Given the description of an element on the screen output the (x, y) to click on. 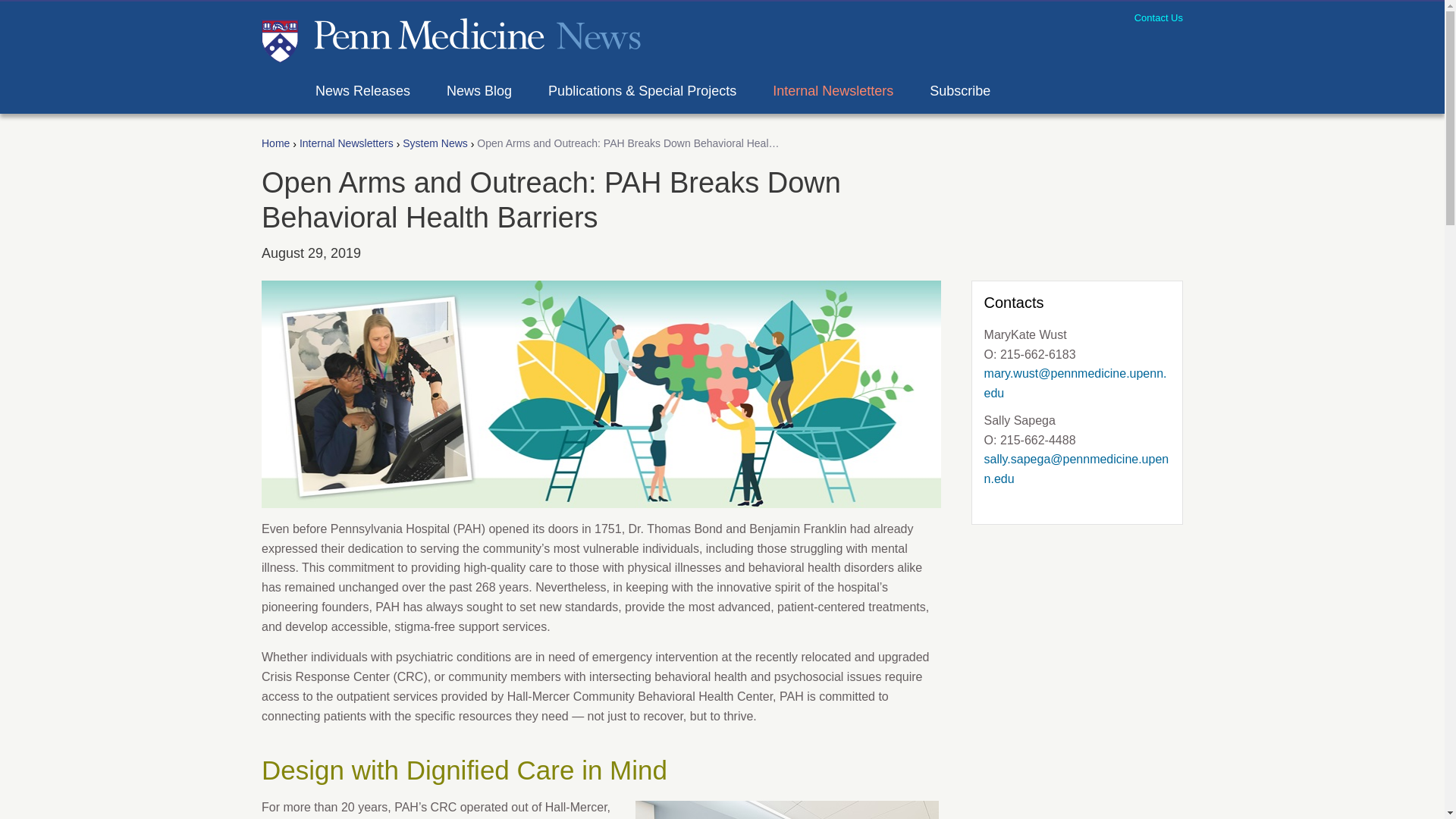
Home (275, 143)
Internal Newsletters (346, 143)
PR News home page (451, 38)
Internal Newsletters (838, 90)
PR News (451, 38)
System News (435, 143)
News Releases (367, 90)
Subscribe (965, 90)
News Blog (484, 90)
Contact Us (1158, 17)
